Given the description of an element on the screen output the (x, y) to click on. 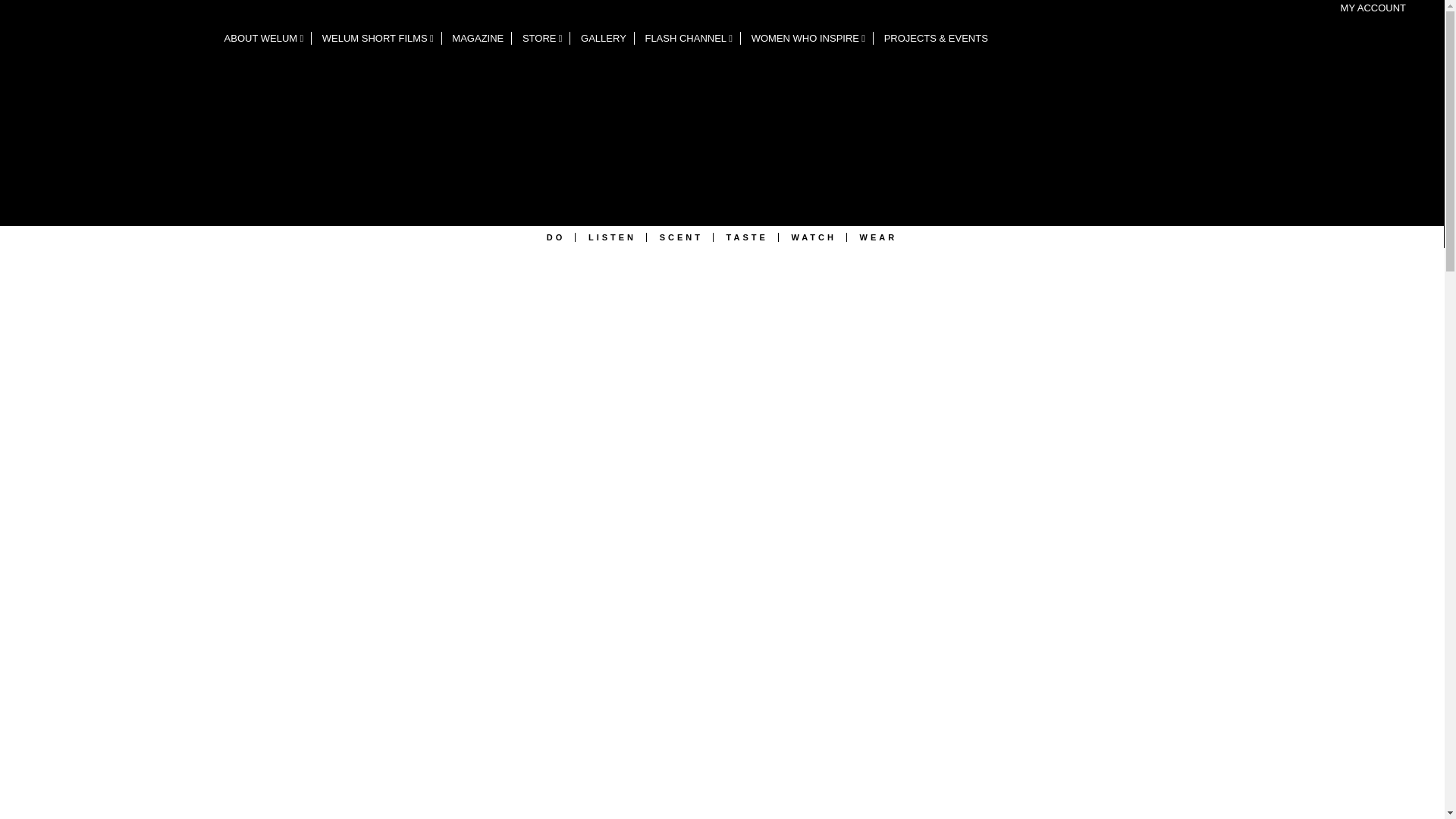
FLASH CHANNEL (689, 38)
DO (556, 236)
WELUM SHORT FILMS (378, 38)
MY ACCOUNT (1373, 7)
Go to Home (108, 118)
MAGAZINE (478, 38)
Store (542, 38)
GALLERY (603, 38)
ABOUT WELUM (264, 38)
WOMEN WHO INSPIRE (808, 38)
STORE (542, 38)
Magazine (478, 38)
